Given the description of an element on the screen output the (x, y) to click on. 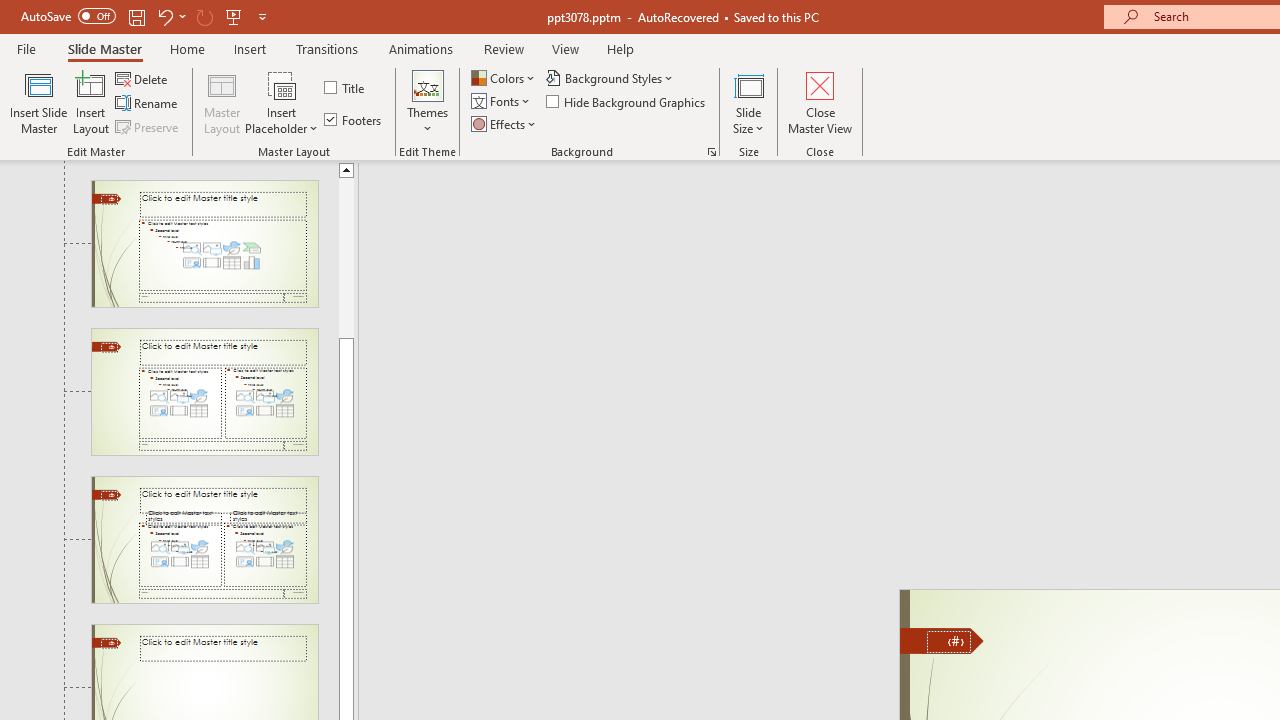
Fonts (502, 101)
Colors (504, 78)
Insert Placeholder (282, 102)
Slide Number (948, 641)
Preserve (148, 126)
Master Layout... (221, 102)
Effects (505, 124)
Format Background... (711, 151)
